Given the description of an element on the screen output the (x, y) to click on. 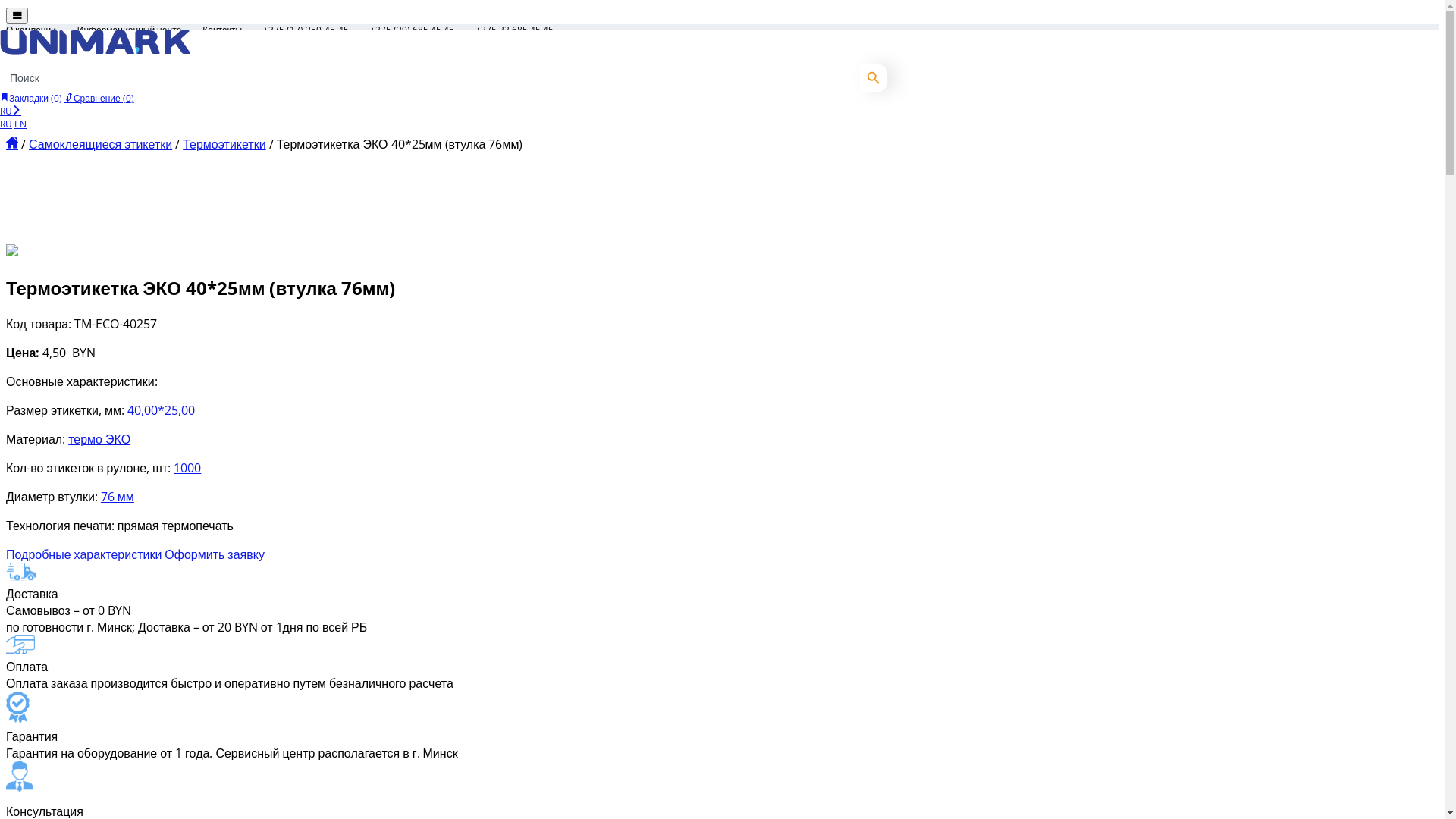
info@unimark.by Element type: text (113, 42)
+375 (29) 685 45 45 Element type: text (412, 29)
+375 (17) 250-45-45 Element type: text (305, 29)
40,00*25,00 Element type: text (160, 409)
Search Button Element type: text (873, 77)
EN Element type: text (20, 123)
RU Element type: text (6, 123)
+375 33 685 45 45 Element type: text (514, 29)
1000 Element type: text (186, 467)
RU Element type: text (10, 110)
